Given the description of an element on the screen output the (x, y) to click on. 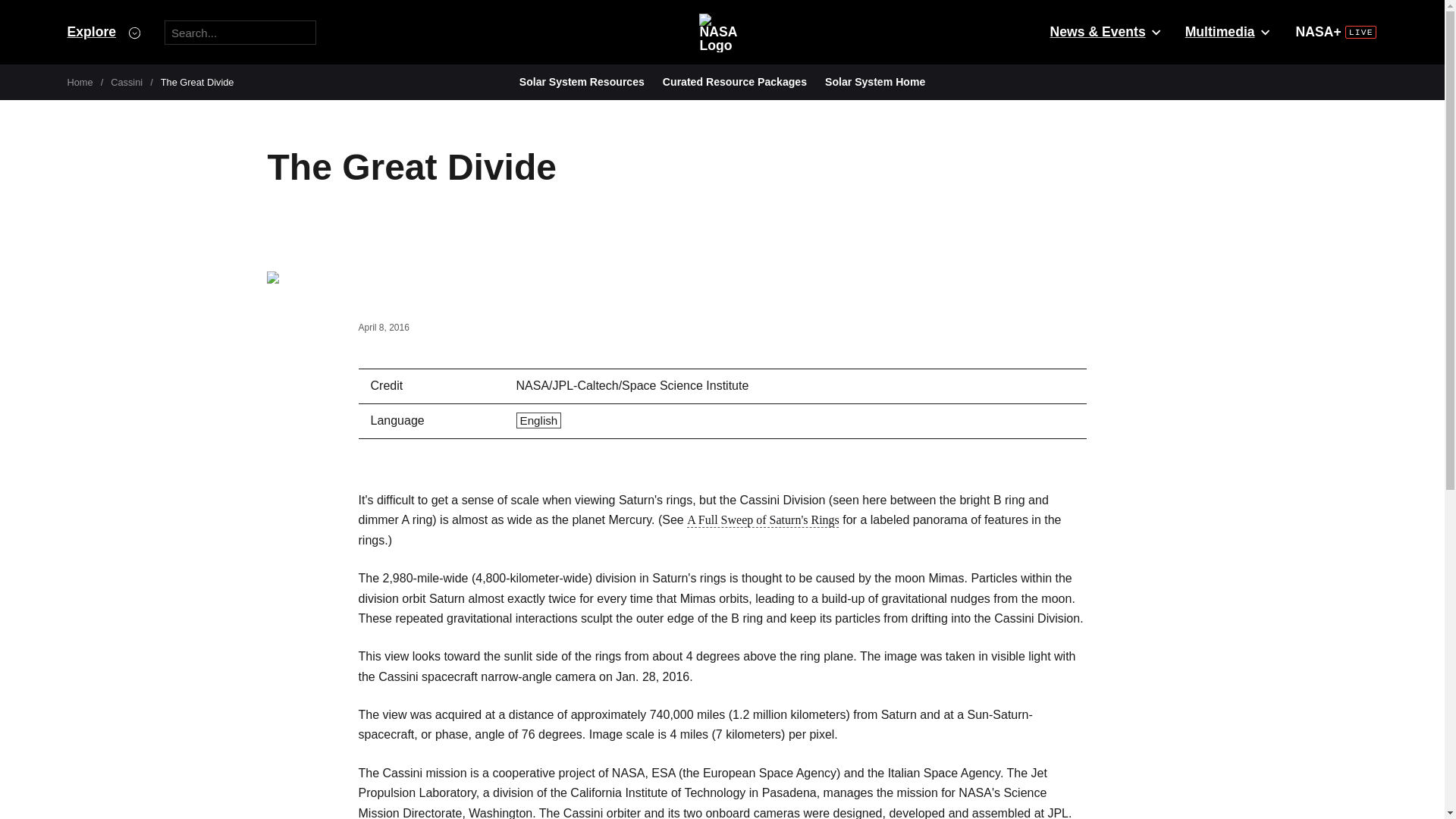
Cassini (126, 81)
Home (79, 81)
